Given the description of an element on the screen output the (x, y) to click on. 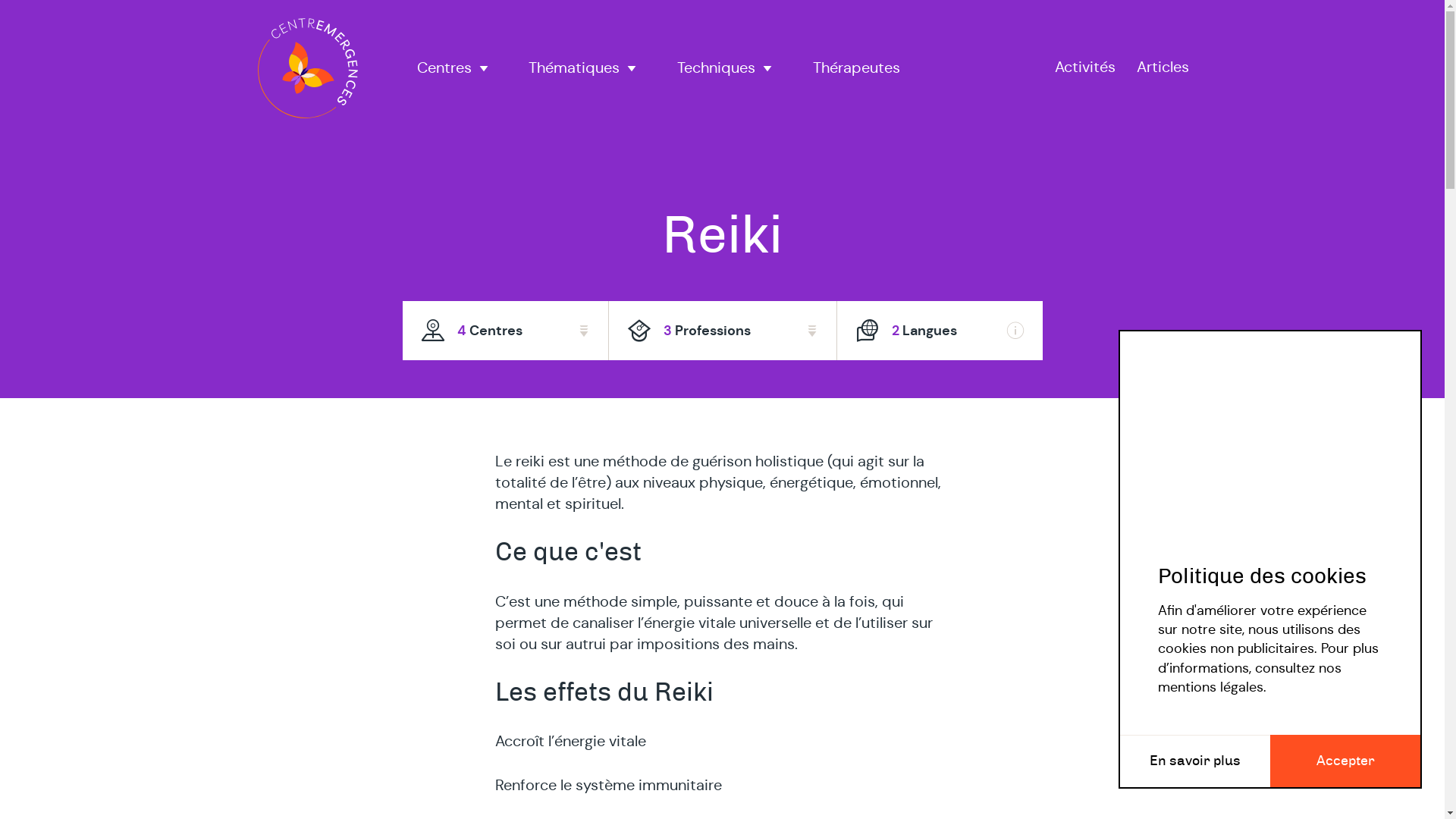
Articles Element type: text (1161, 67)
Techniques Element type: text (721, 67)
2 Langues Element type: text (938, 330)
4 Centres Element type: text (504, 330)
Centres Element type: text (450, 67)
Accepter Element type: text (1345, 760)
En savoir plus Element type: text (1195, 760)
3 Professions Element type: text (722, 330)
